Given the description of an element on the screen output the (x, y) to click on. 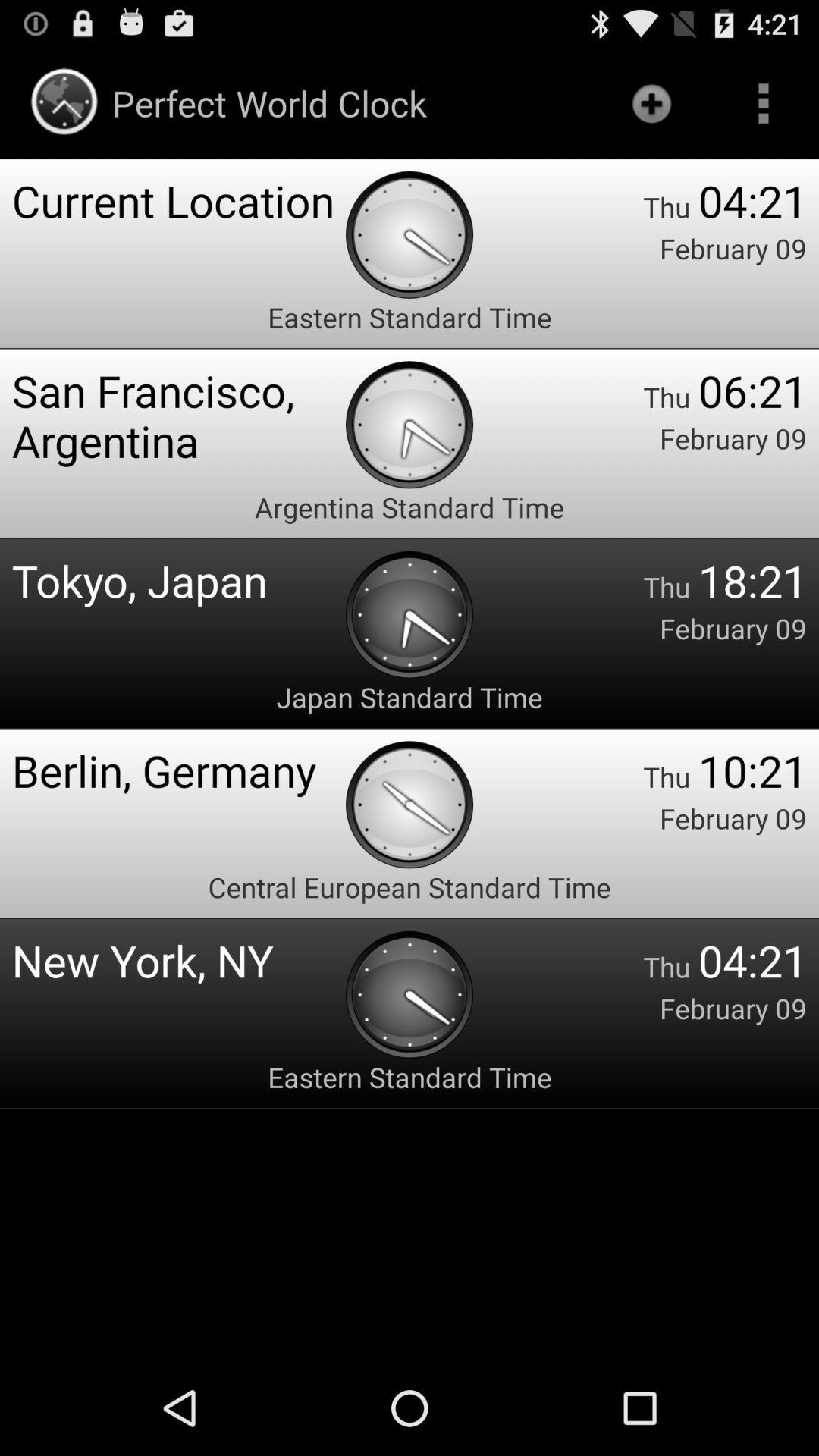
turn on the icon below argentina standard time item (178, 580)
